Given the description of an element on the screen output the (x, y) to click on. 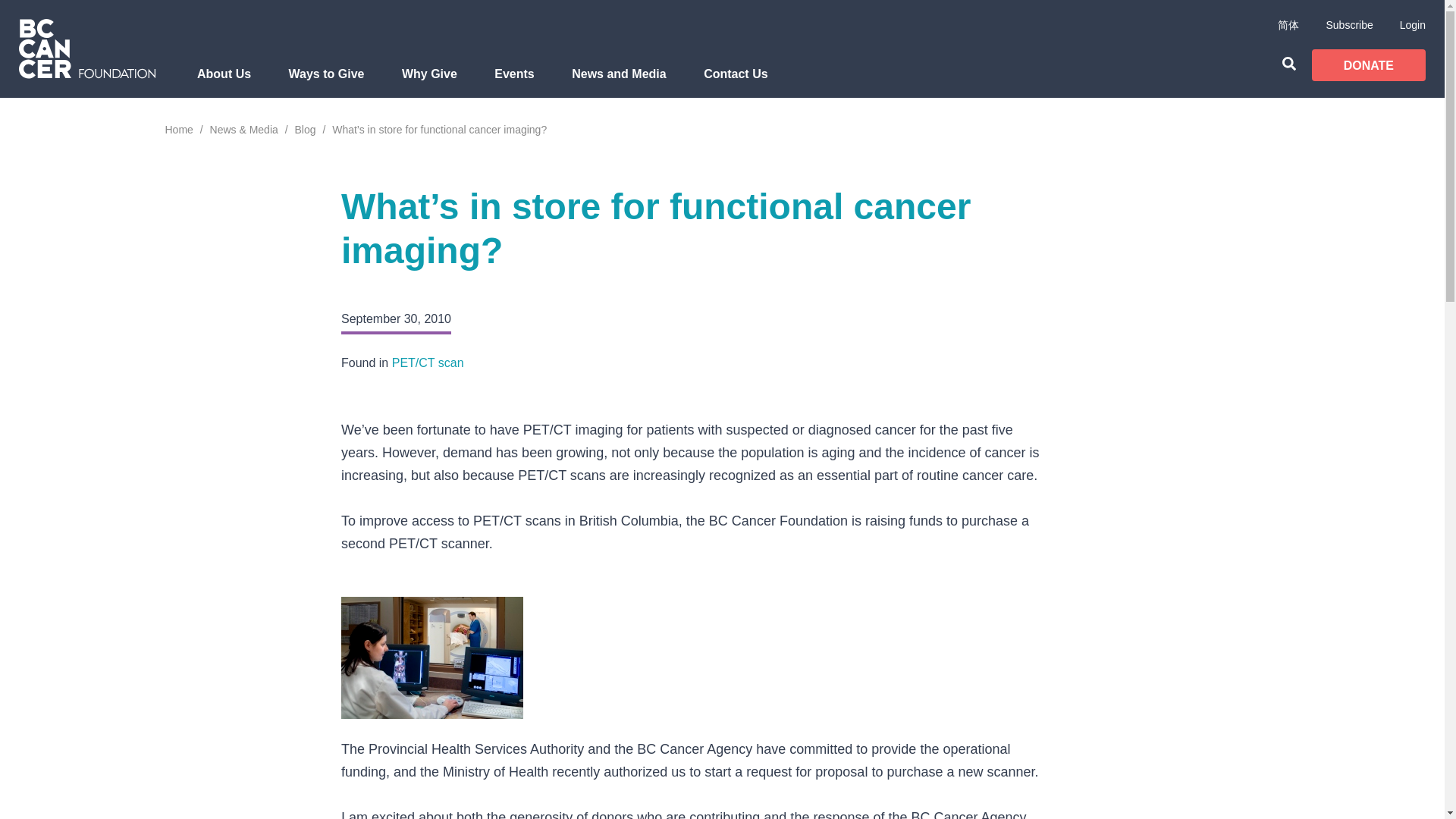
Ways to Give (326, 82)
News and Media (618, 82)
Home (179, 129)
Login (1412, 24)
Events (513, 82)
Subscribe (1348, 24)
Blog (304, 129)
Why Give (429, 82)
About Us (223, 82)
